Given the description of an element on the screen output the (x, y) to click on. 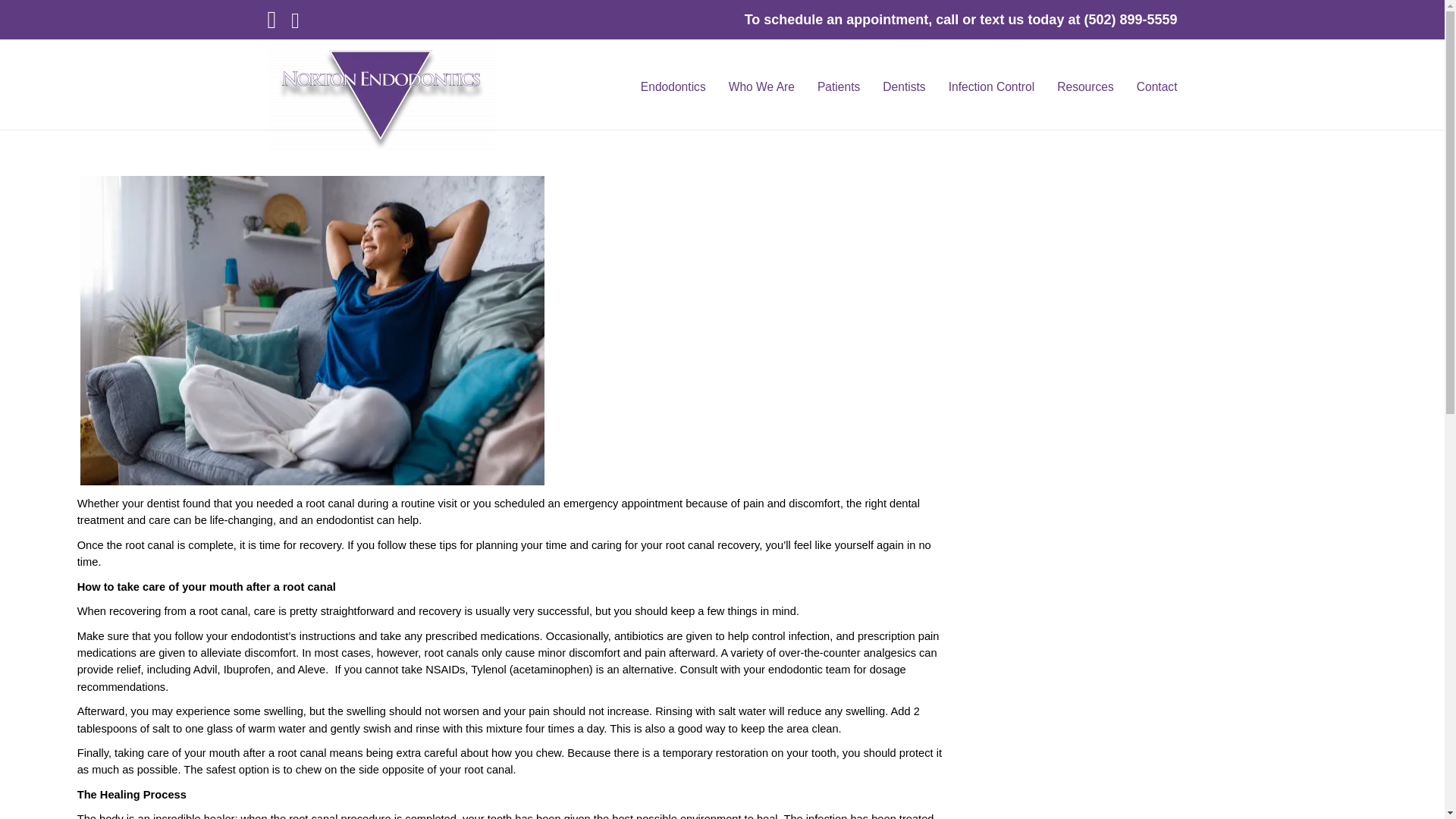
Infection Control (992, 83)
